Given the description of an element on the screen output the (x, y) to click on. 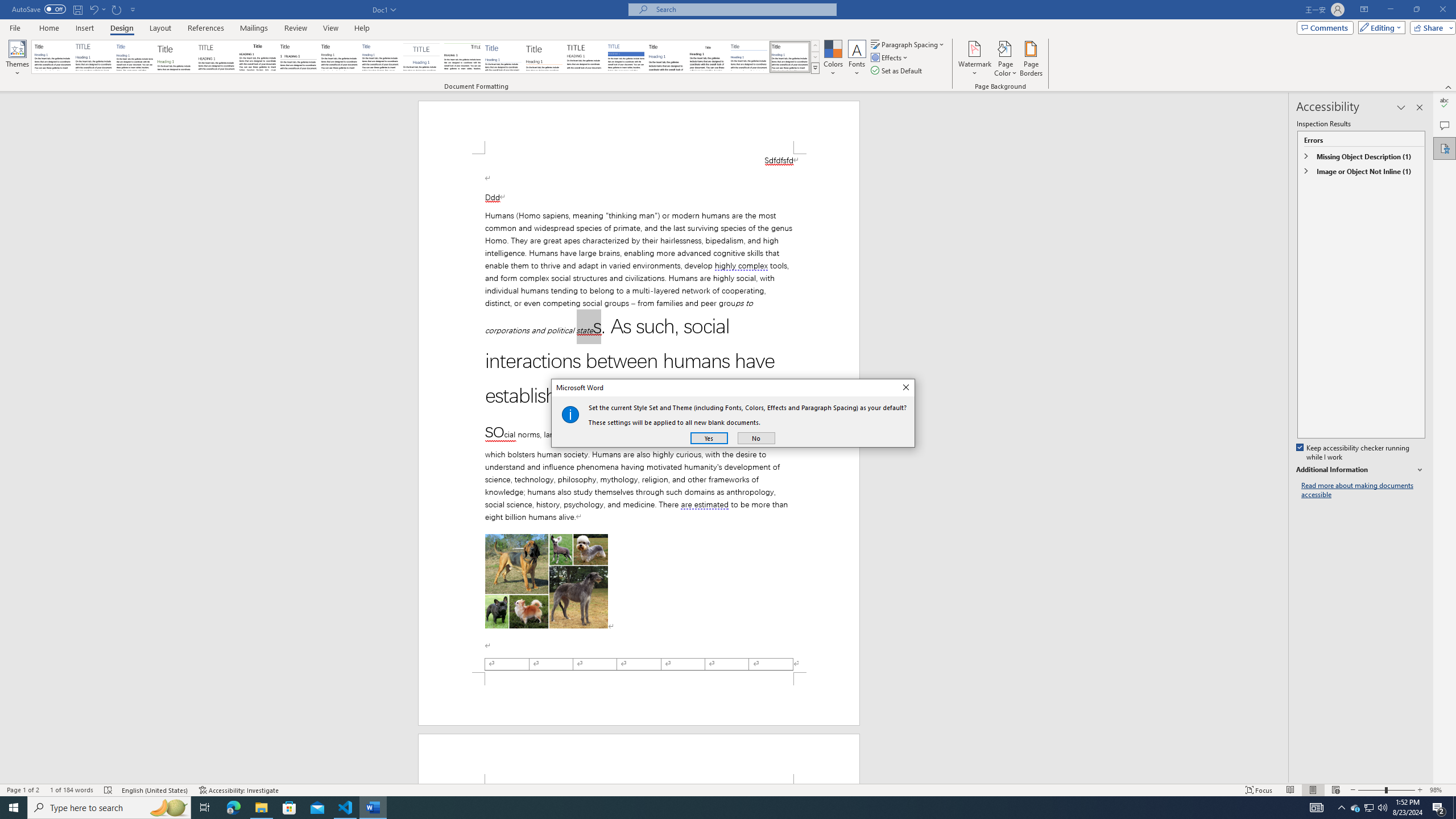
Basic (Simple) (135, 56)
Microsoft Edge (233, 807)
Lines (Distinctive) (462, 56)
Task View (204, 807)
Word 2010 (749, 56)
Read more about making documents accessible (1363, 489)
Footer -Section 1- (638, 698)
Lines (Simple) (503, 56)
Basic (Elegant) (93, 56)
AutomationID: QuickStylesSets (425, 56)
